Given the description of an element on the screen output the (x, y) to click on. 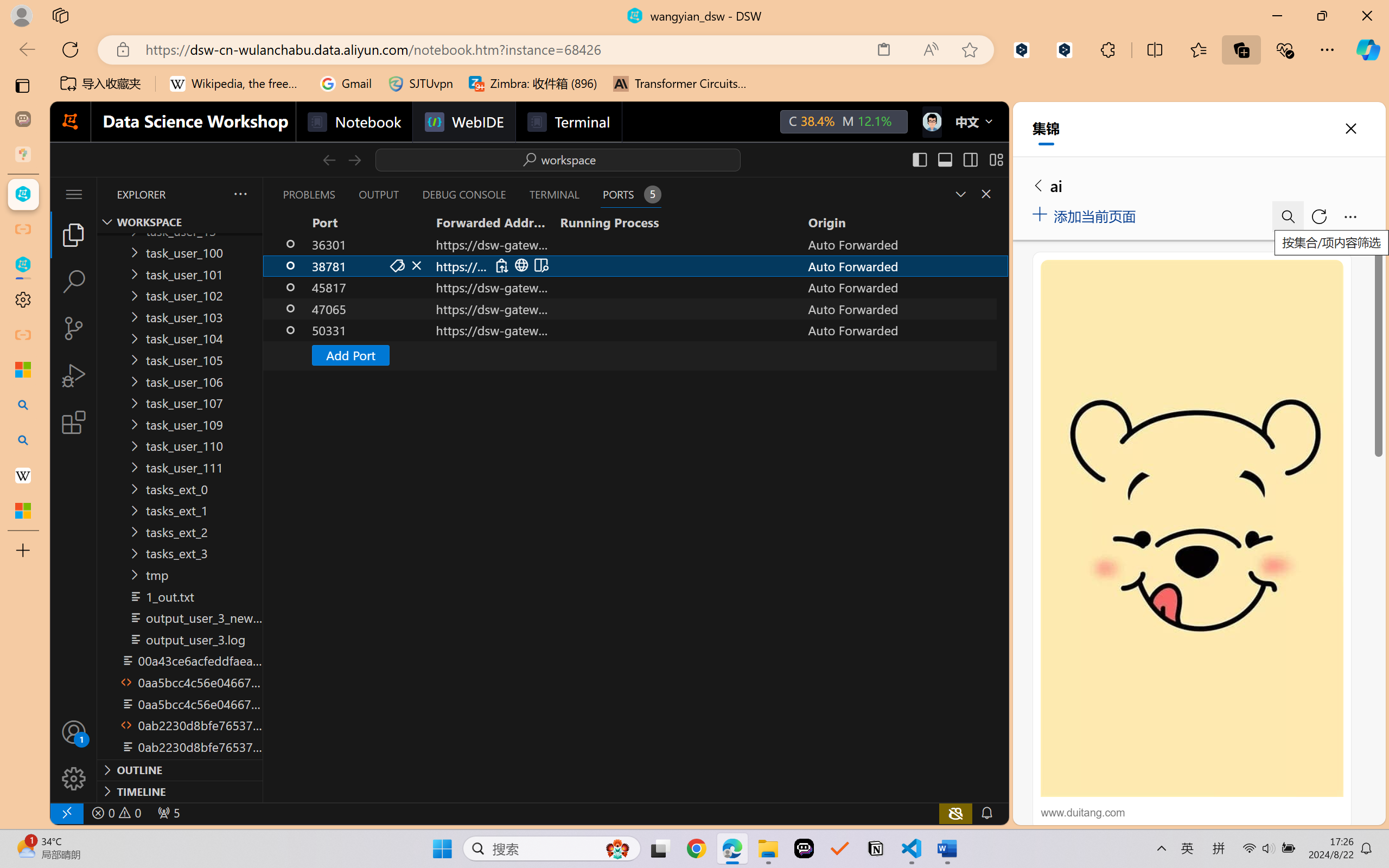
Notebook (353, 121)
Copilot (Ctrl+Shift+.) (1368, 49)
Copy Local Address (Ctrl+C) (501, 265)
Earth - Wikipedia (22, 475)
Views and More Actions... (239, 193)
Explorer actions (211, 194)
